Given the description of an element on the screen output the (x, y) to click on. 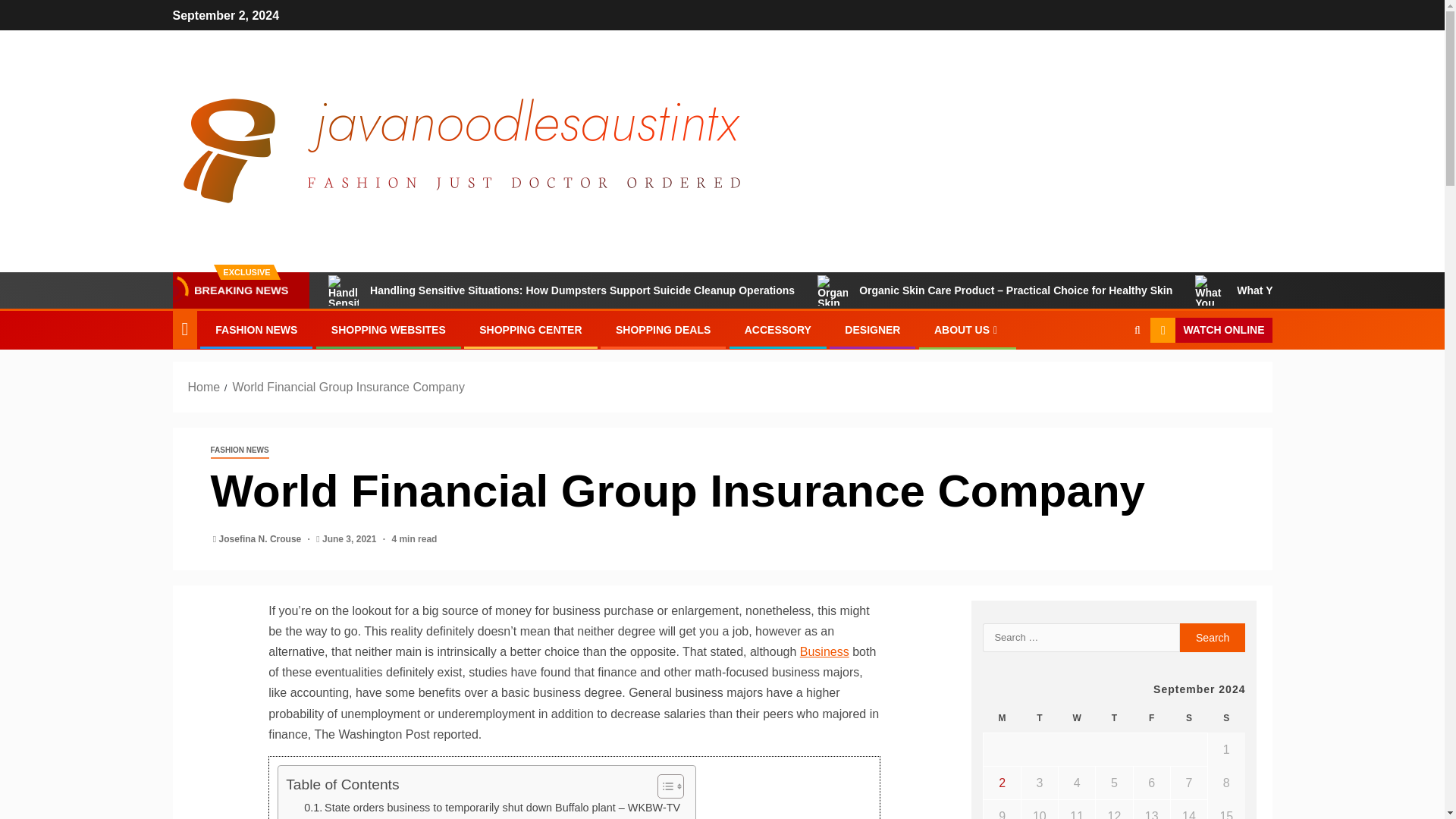
Search (1212, 637)
DESIGNER (871, 329)
Home (204, 386)
Josefina N. Crouse (261, 538)
SHOPPING DEALS (662, 329)
ACCESSORY (777, 329)
World Financial Group Insurance Company (347, 386)
SHOPPING CENTER (529, 329)
Search (1107, 376)
